Given the description of an element on the screen output the (x, y) to click on. 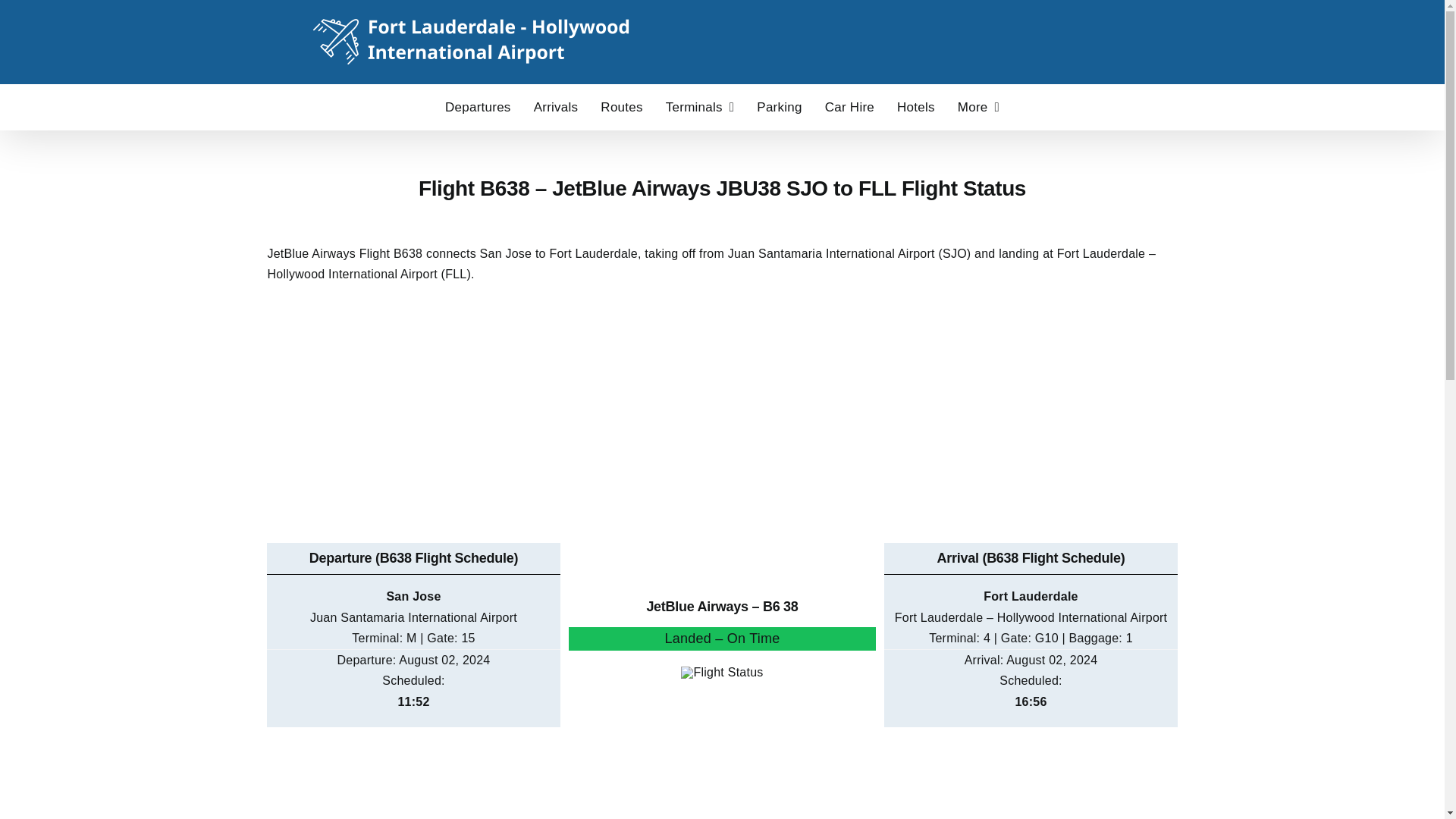
Car Hire (850, 106)
Departures (478, 106)
FLL Departures (478, 106)
Arrivals (556, 106)
Terminals (700, 106)
FLL Routes (620, 106)
Parking (779, 106)
Routes (620, 106)
FLL Car Hire (850, 106)
FLL Arrivals (556, 106)
More (978, 106)
FLL Parking (779, 106)
